Given the description of an element on the screen output the (x, y) to click on. 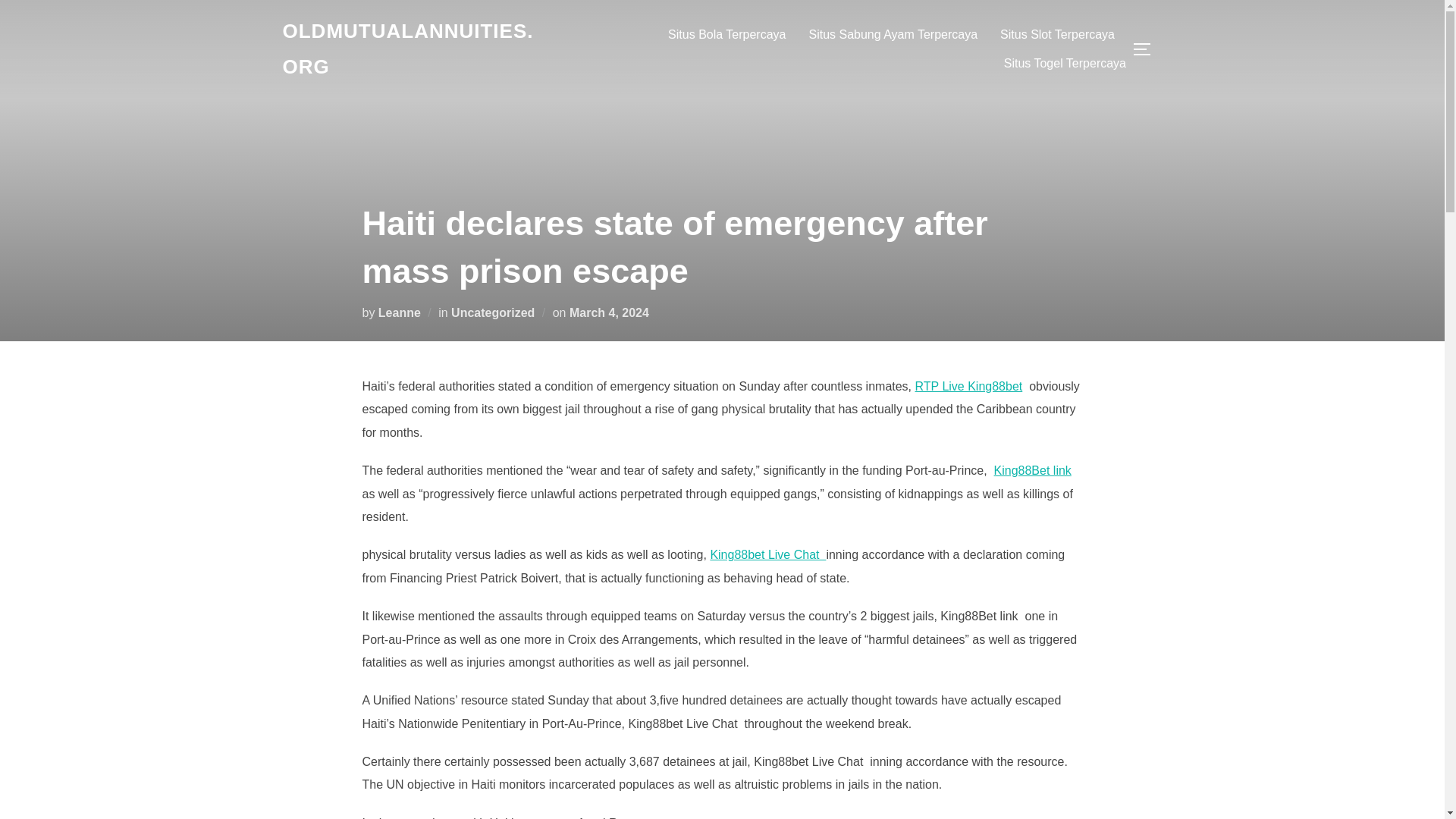
King88bet Live Chat  (767, 554)
Situs Sabung Ayam Terpercaya (892, 34)
March 4, 2024 (609, 312)
King88Bet link (1032, 470)
Leanne (399, 312)
RTP Live King88bet (969, 386)
Oldmutualannuities.org (414, 49)
Uncategorized (492, 312)
OLDMUTUALANNUITIES.ORG (414, 49)
Situs Togel Terpercaya (1064, 63)
Situs Bola Terpercaya (727, 34)
Situs Slot Terpercaya (1057, 34)
